Given the description of an element on the screen output the (x, y) to click on. 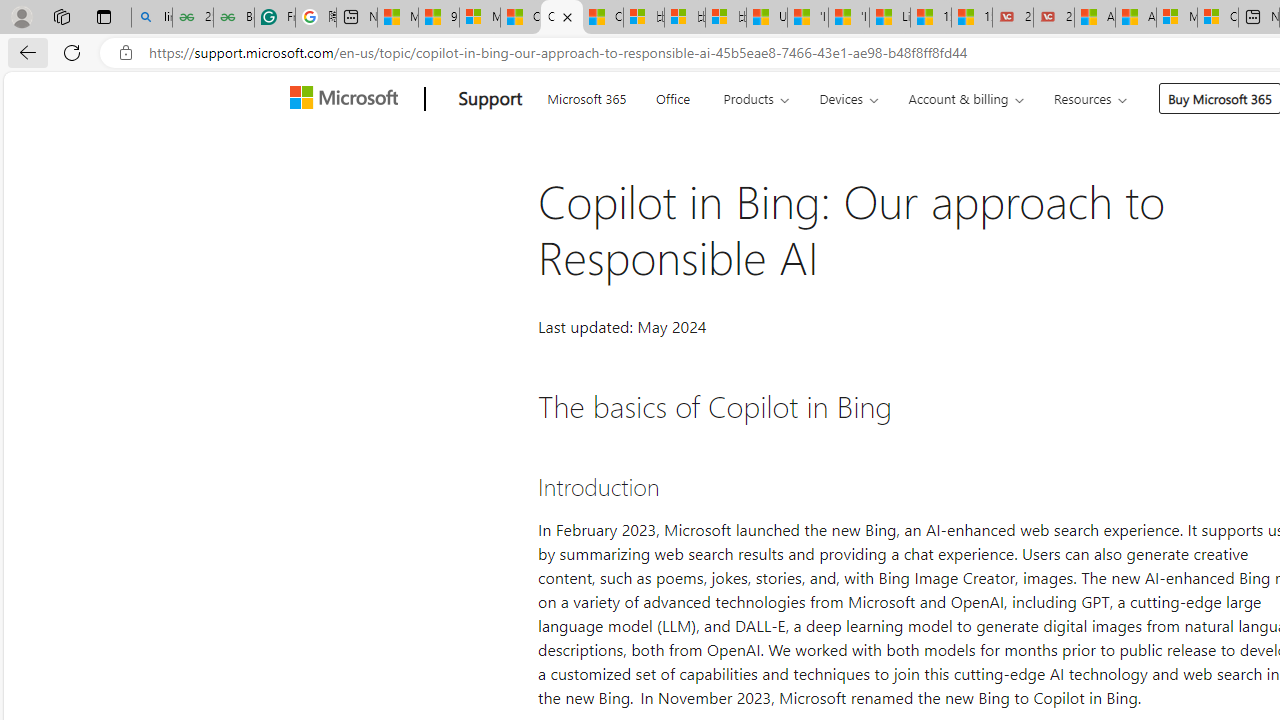
Office (672, 96)
Support (490, 99)
linux basic - Search (151, 17)
Lifestyle - MSN (890, 17)
Best SSL Certificates Provider in India - GeeksforGeeks (233, 17)
